Given the description of an element on the screen output the (x, y) to click on. 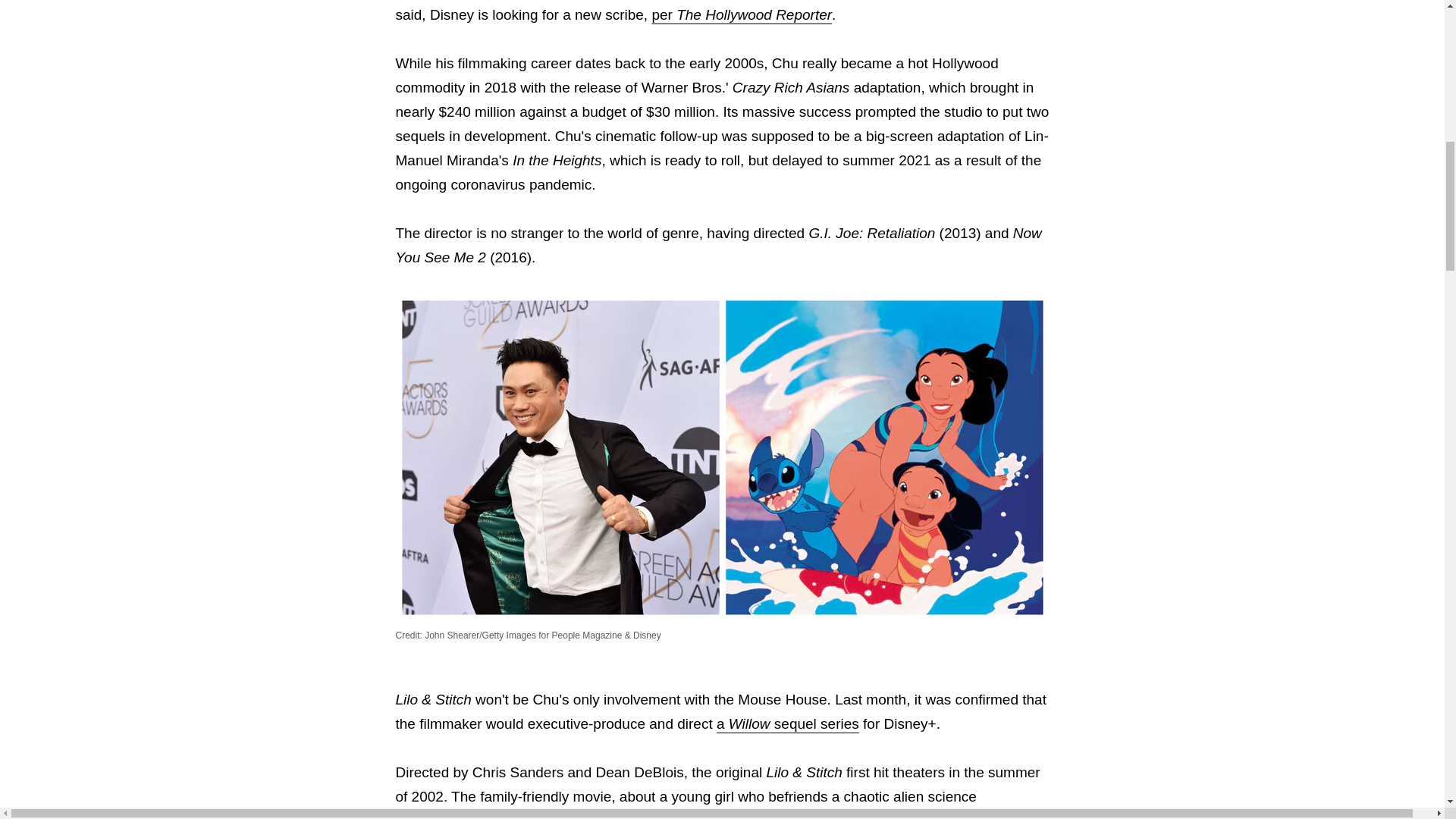
a Willow sequel series (787, 723)
per The Hollywood Reporter (740, 14)
